Given the description of an element on the screen output the (x, y) to click on. 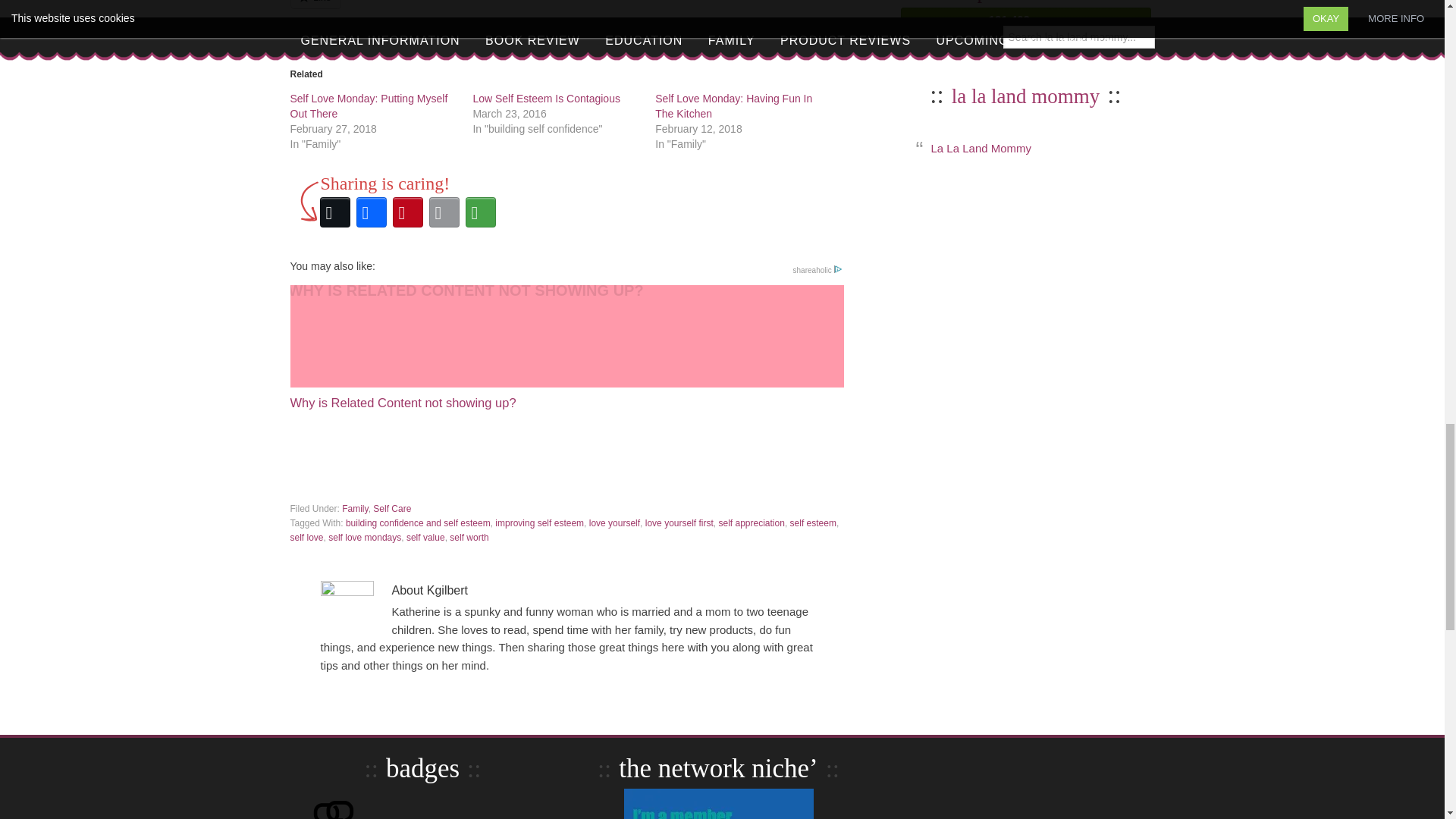
Self Love Monday: Having Fun In The Kitchen (733, 105)
Low Self Esteem Is Contagious (545, 98)
More Options (481, 212)
Website Tools by Shareaholic (817, 270)
shareaholic (817, 270)
Self Love Monday: Putting Myself Out There (367, 105)
Like or Reblog (566, 13)
Self Love Monday: Having Fun In The Kitchen (733, 105)
Self Love Monday: Putting Myself Out There (367, 105)
Why is Related Content not showing up? (566, 348)
Email This (444, 212)
Low Self Esteem Is Contagious (545, 98)
Pinterest (408, 212)
Facebook (371, 212)
